Given the description of an element on the screen output the (x, y) to click on. 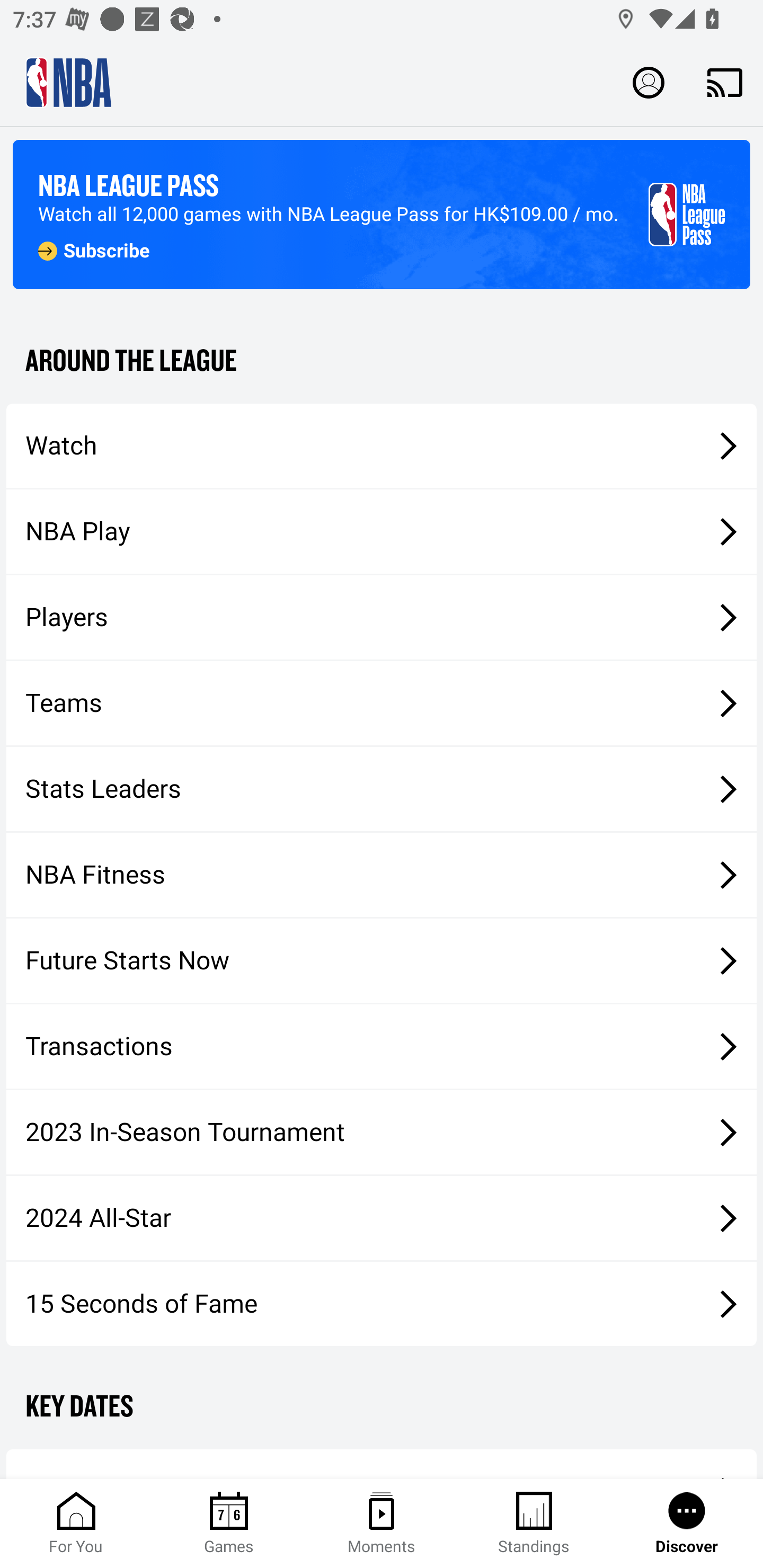
Cast. Disconnected (724, 82)
Profile (648, 81)
Watch (381, 444)
NBA Play (381, 531)
Players (381, 617)
Teams (381, 702)
Stats Leaders (381, 788)
NBA Fitness (381, 874)
Future Starts Now (381, 960)
Transactions (381, 1046)
2023 In-Season Tournament (381, 1131)
2024 All-Star (381, 1218)
15 Seconds of Fame (381, 1303)
For You (76, 1523)
Games (228, 1523)
Moments (381, 1523)
Standings (533, 1523)
